Given the description of an element on the screen output the (x, y) to click on. 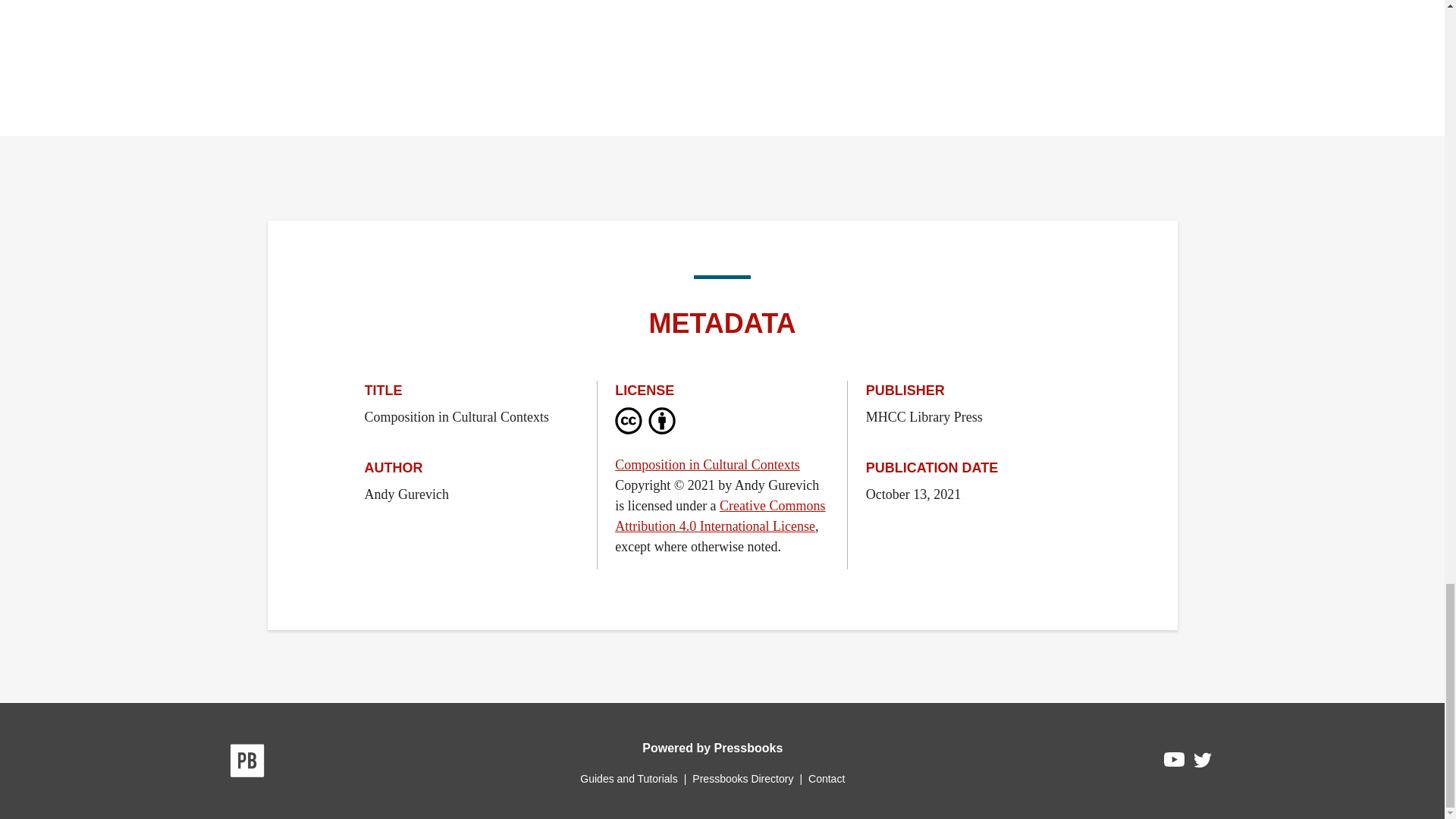
Powered by Pressbooks (712, 748)
Guides and Tutorials (627, 778)
Composition in Cultural Contexts (706, 464)
Pressbooks Directory (742, 778)
Creative Commons Attribution 4.0 International License (719, 515)
